Given the description of an element on the screen output the (x, y) to click on. 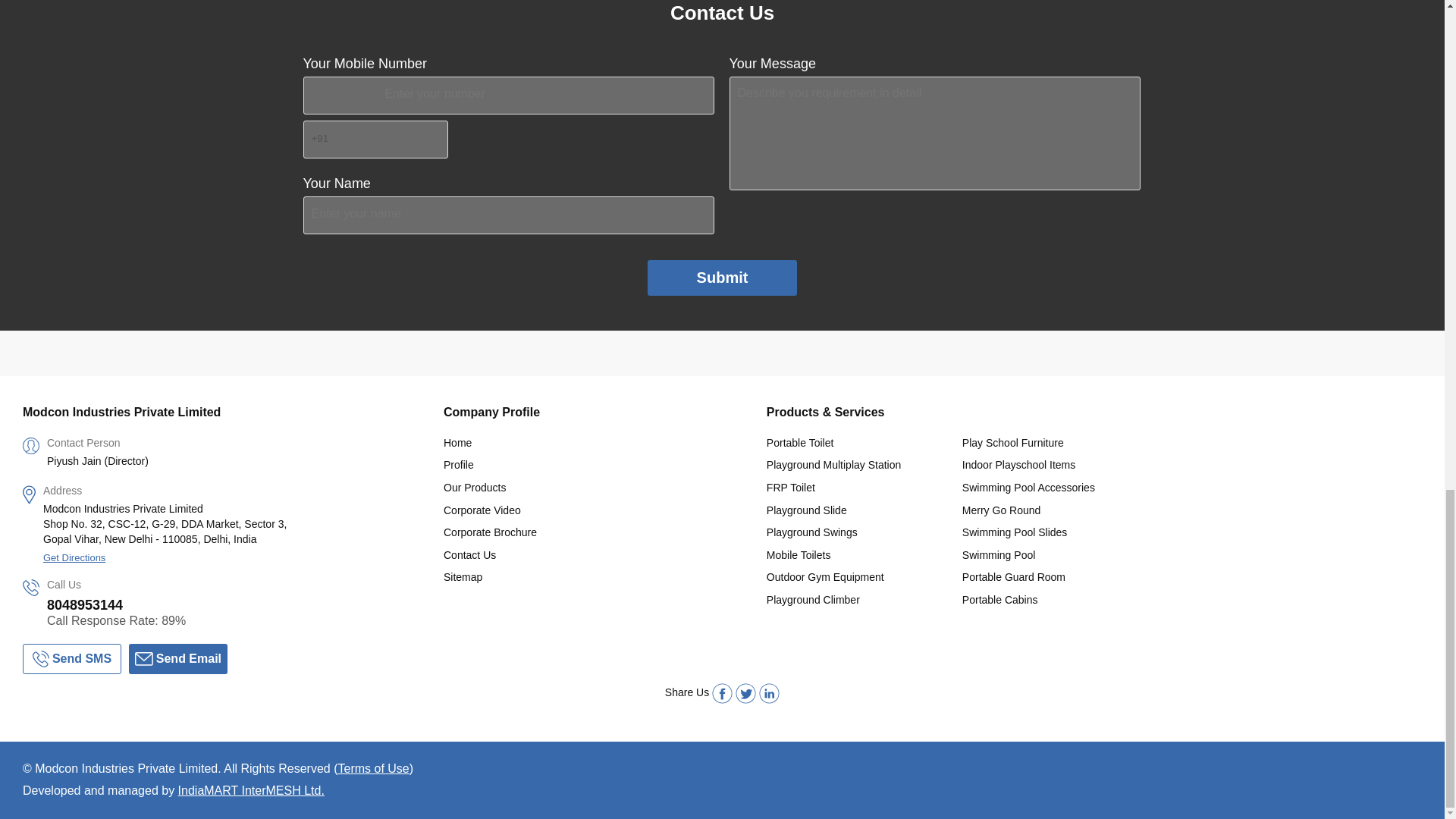
Submit (722, 277)
